Given the description of an element on the screen output the (x, y) to click on. 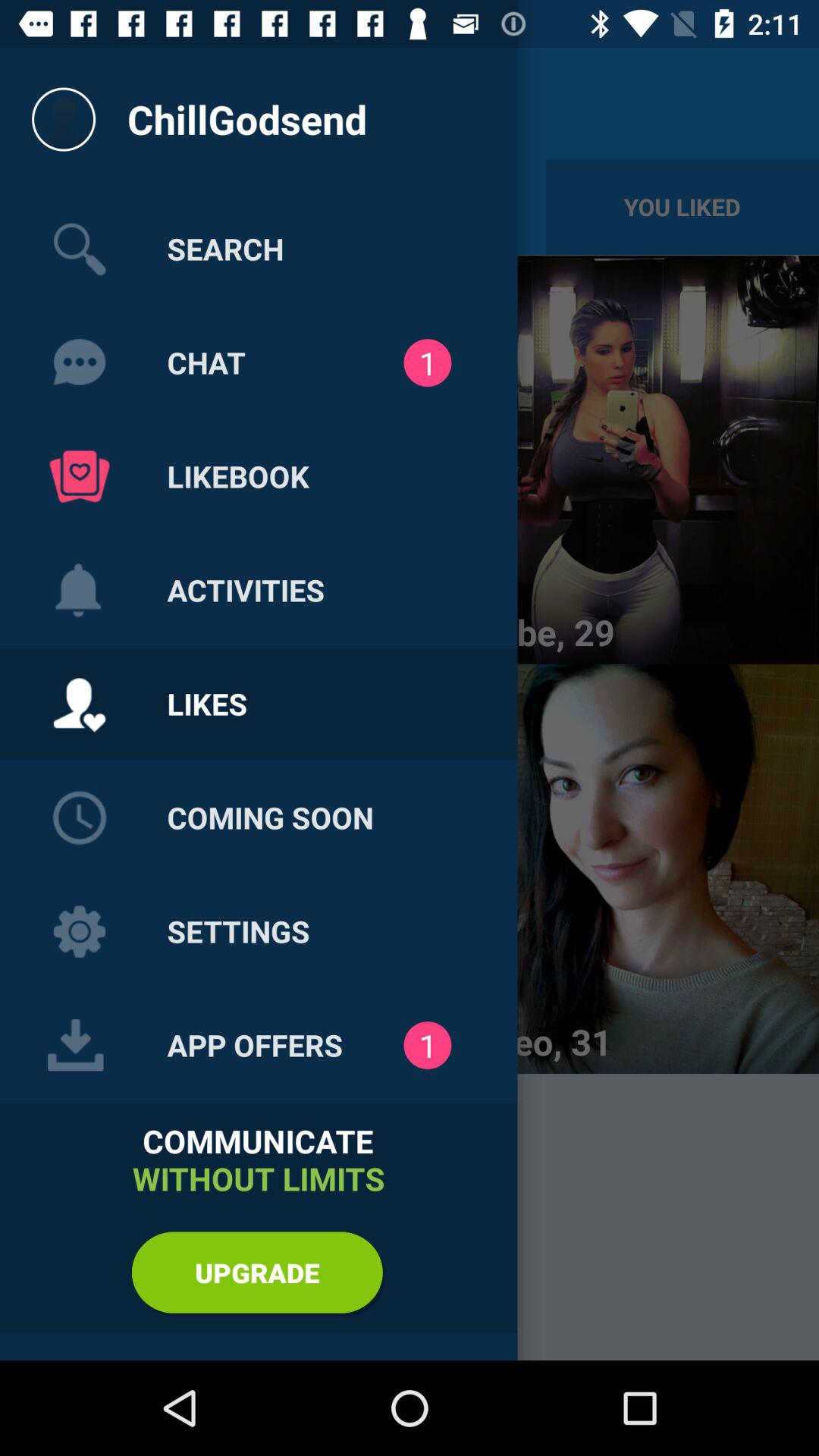
select fourth option under chillgodsend (79, 591)
select the icon left to the text likes (79, 704)
select the chat icon (79, 362)
